Given the description of an element on the screen output the (x, y) to click on. 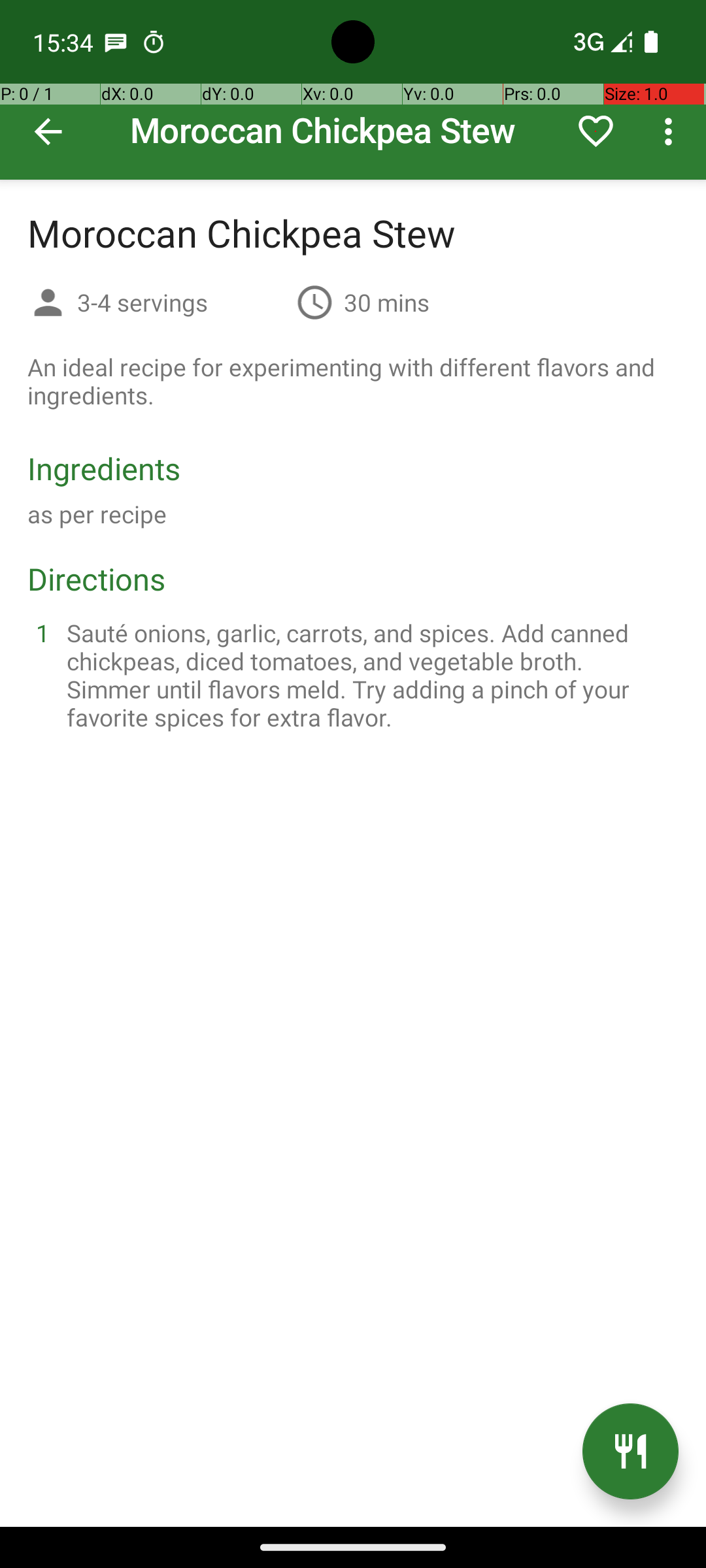
Sauté onions, garlic, carrots, and spices. Add canned chickpeas, diced tomatoes, and vegetable broth. Simmer until flavors meld. Try adding a pinch of your favorite spices for extra flavor. Element type: android.widget.TextView (368, 674)
